Given the description of an element on the screen output the (x, y) to click on. 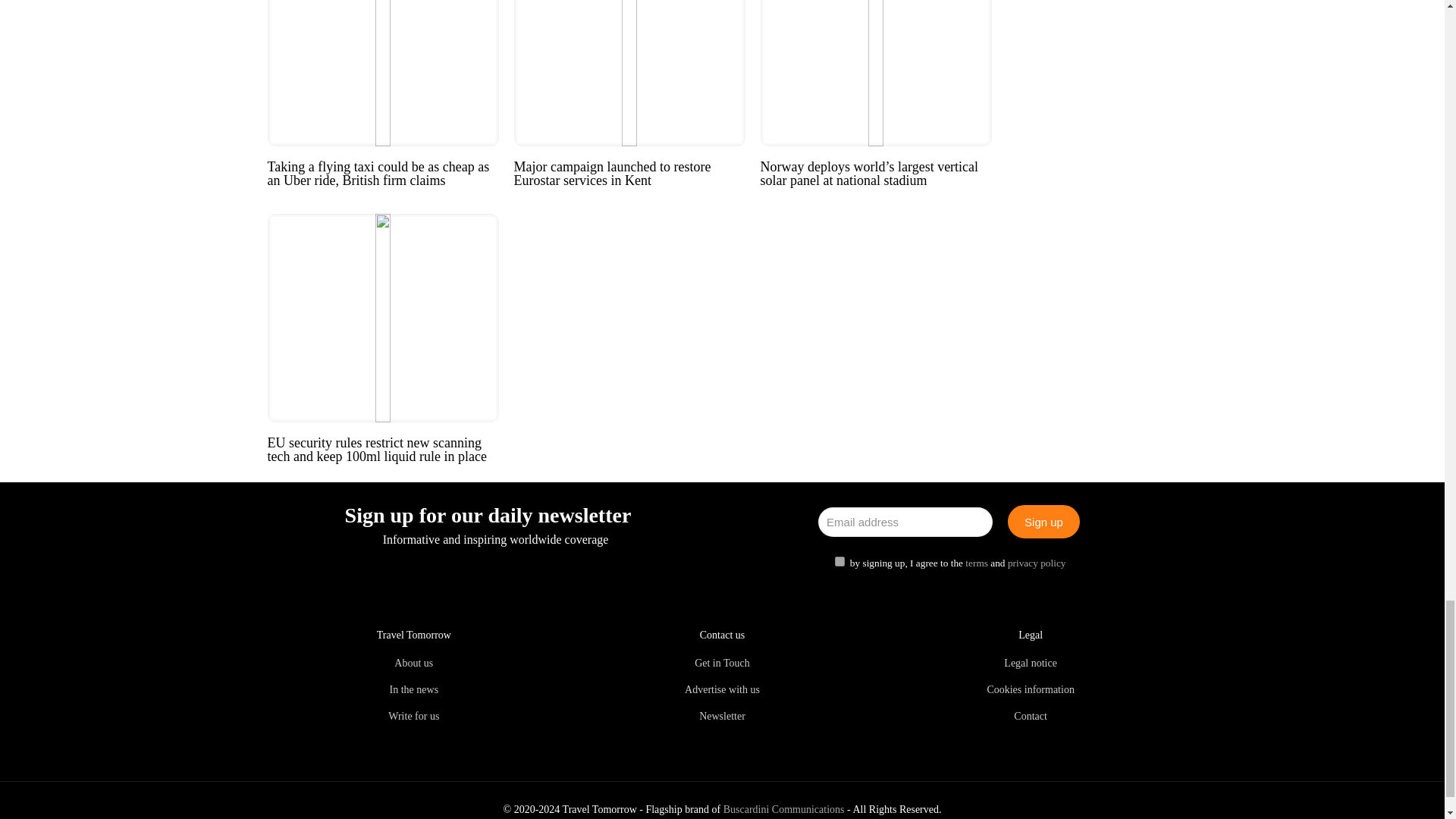
Sign up (1043, 521)
1 (839, 561)
